Given the description of an element on the screen output the (x, y) to click on. 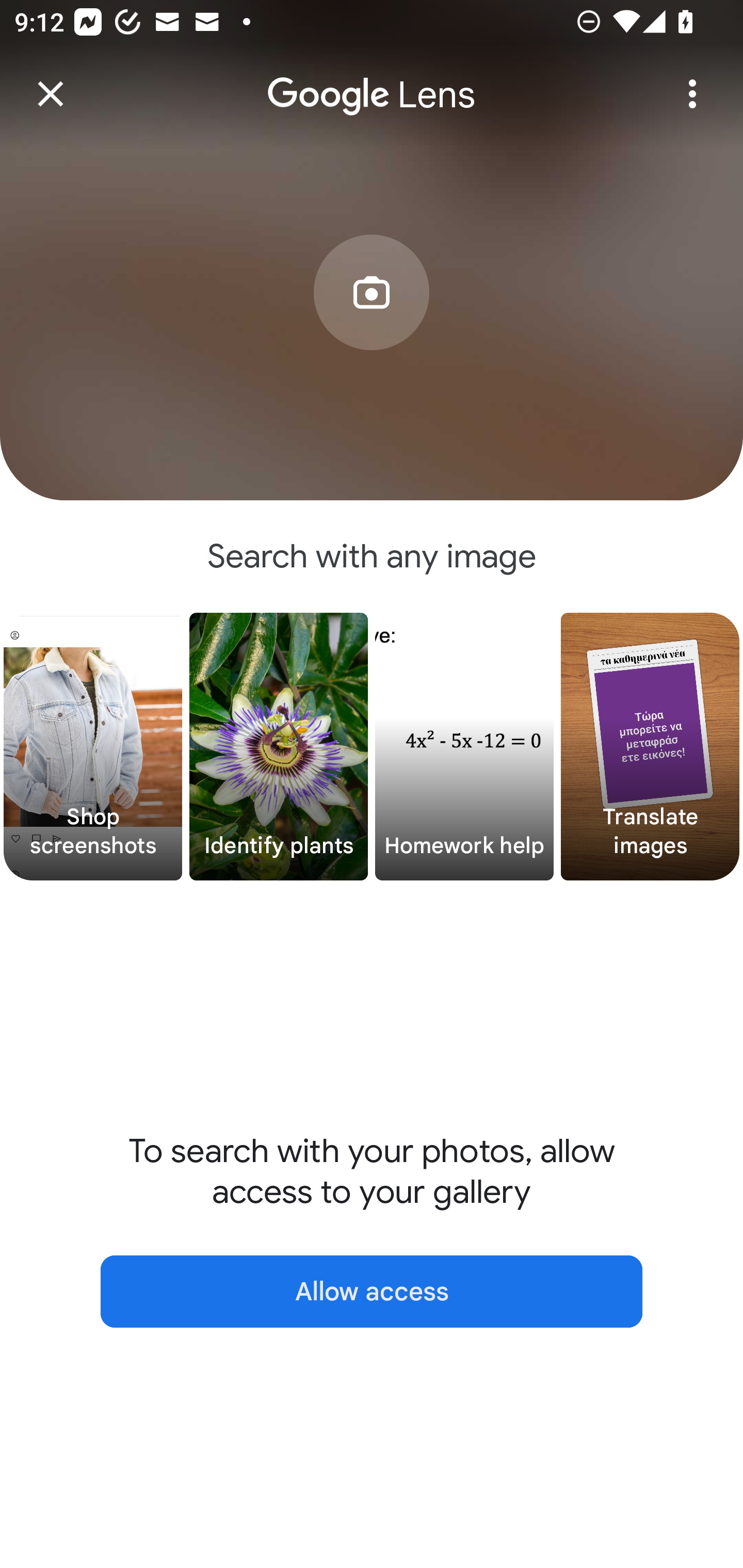
Google Lens Lens (371, 80)
Close (50, 94)
More options (692, 94)
Search with your camera (371, 326)
Shop screenshots (92, 747)
Identify plants (278, 747)
Homework help (464, 747)
Translate images (649, 747)
Allow access (371, 1291)
